Given the description of an element on the screen output the (x, y) to click on. 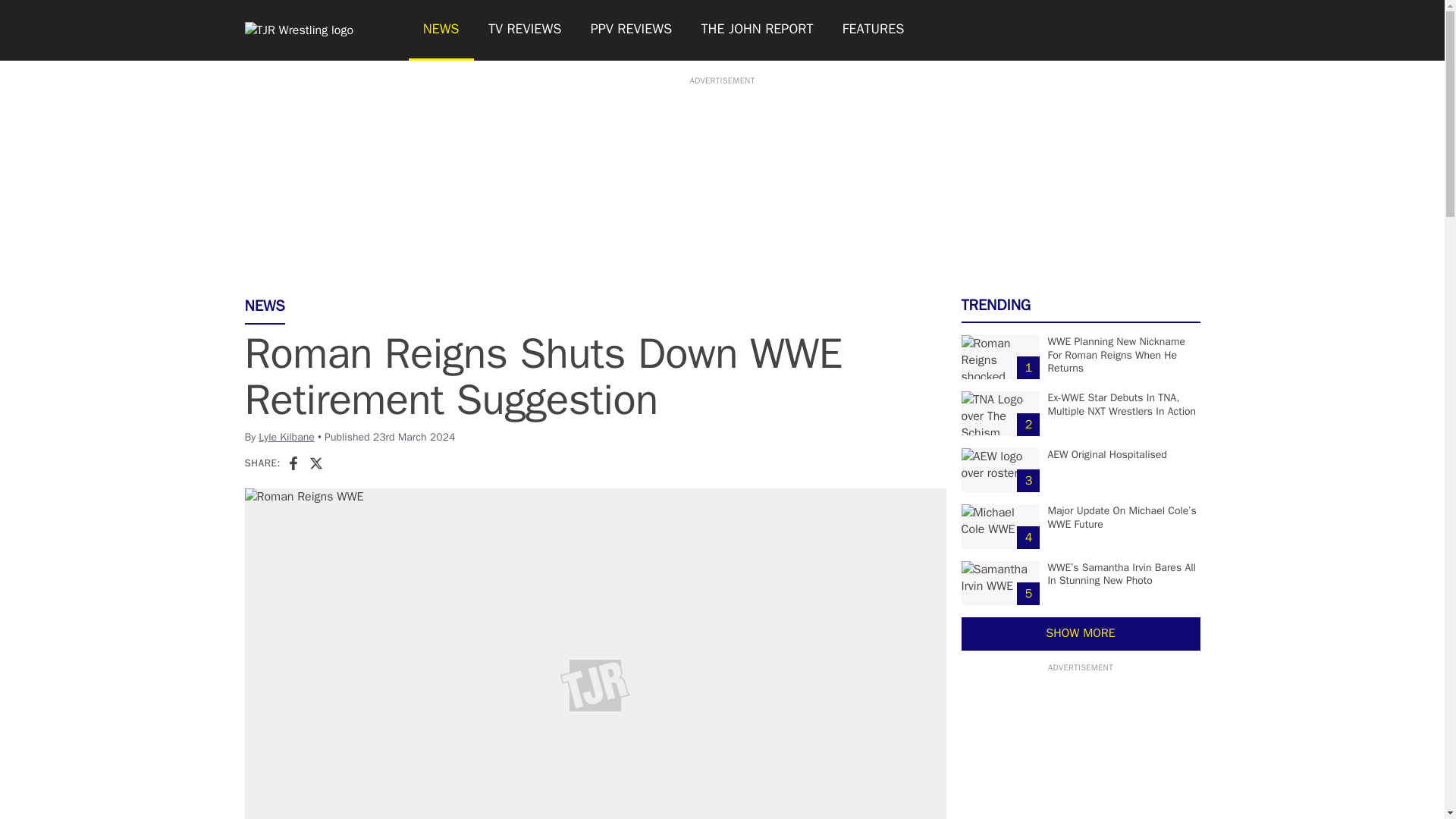
X (315, 462)
TV REVIEWS (525, 30)
Facebook (292, 463)
NEWS (440, 30)
X (315, 463)
Lyle Kilbane (286, 436)
FEATURES (873, 30)
THE JOHN REPORT (756, 30)
PPV REVIEWS (631, 30)
Facebook (292, 462)
